Given the description of an element on the screen output the (x, y) to click on. 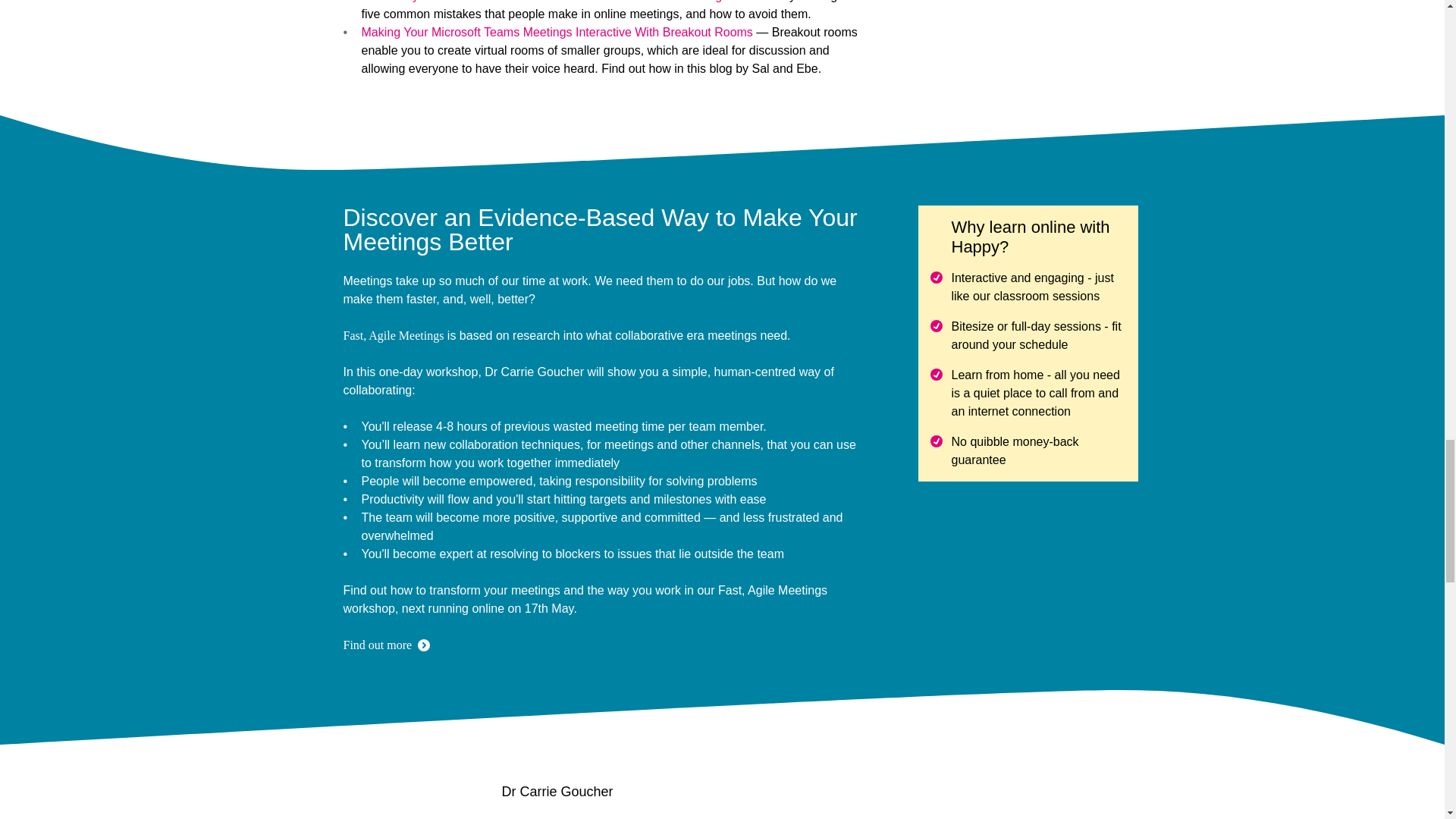
Fast, Agile Meetings 1 Day Workshop (393, 335)
Fast, Agile Meetings 1 Day Workshop (377, 644)
